Given the description of an element on the screen output the (x, y) to click on. 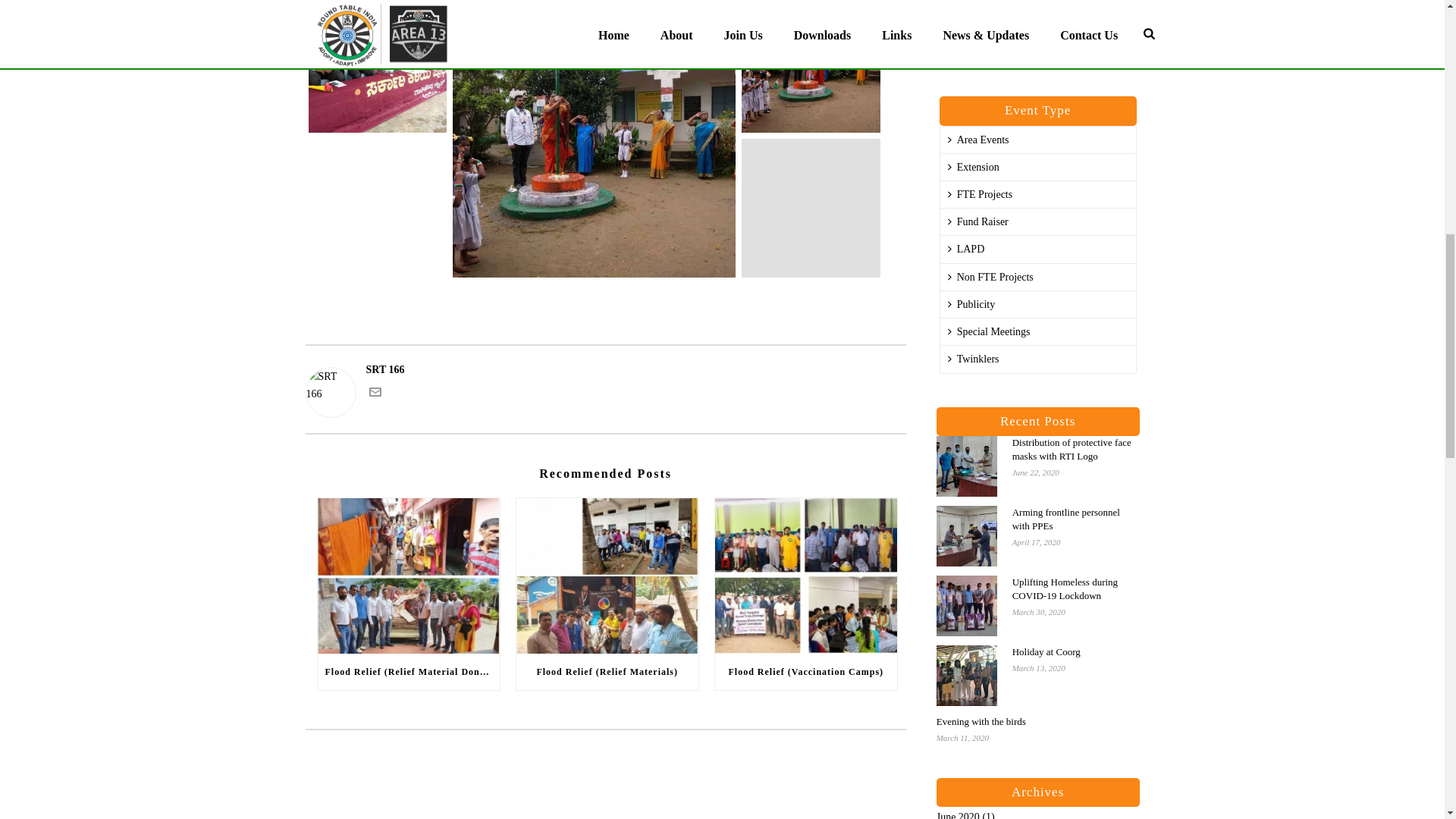
Independence Day Celebration at our adopted school (593, 138)
Independence Day Celebration at our adopted school (376, 66)
Independence Day Celebration at our adopted school (810, 66)
Distribution of protective face masks with RTI Logo (966, 465)
Get in touch with me via email (374, 394)
Independence Day Celebration at our adopted school (810, 207)
Arming frontline personnel with PPEs (966, 536)
